Given the description of an element on the screen output the (x, y) to click on. 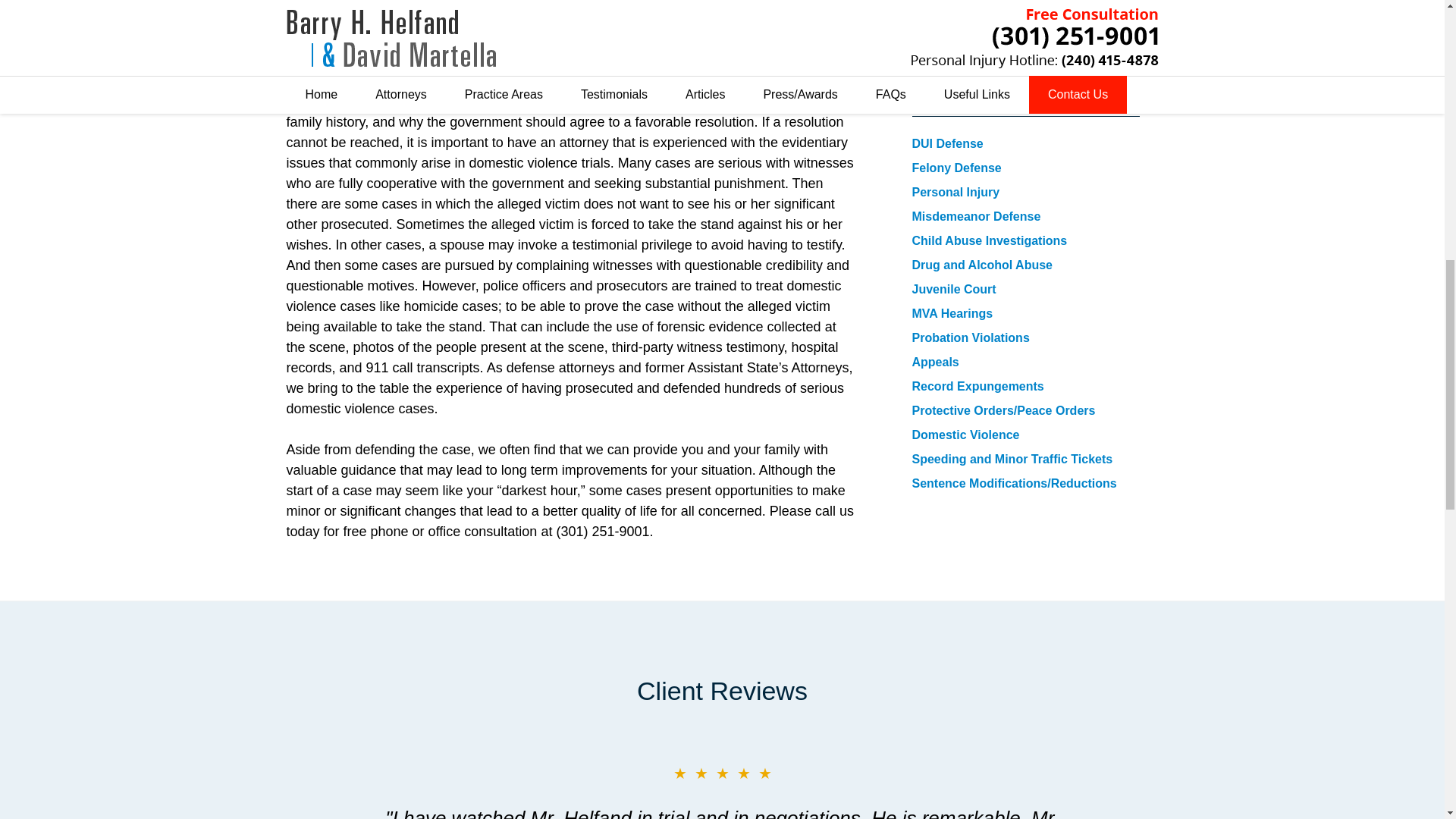
Felony Defense (956, 167)
Appeals (934, 361)
Practice Areas (960, 99)
Misdemeanor Defense (976, 215)
MVA Hearings (951, 313)
Drug and Alcohol Abuse (981, 264)
Probation Violations (970, 337)
Speeding and Minor Traffic Tickets (1011, 459)
Juvenile Court (953, 288)
CONTACT US NOW (1024, 18)
